Given the description of an element on the screen output the (x, y) to click on. 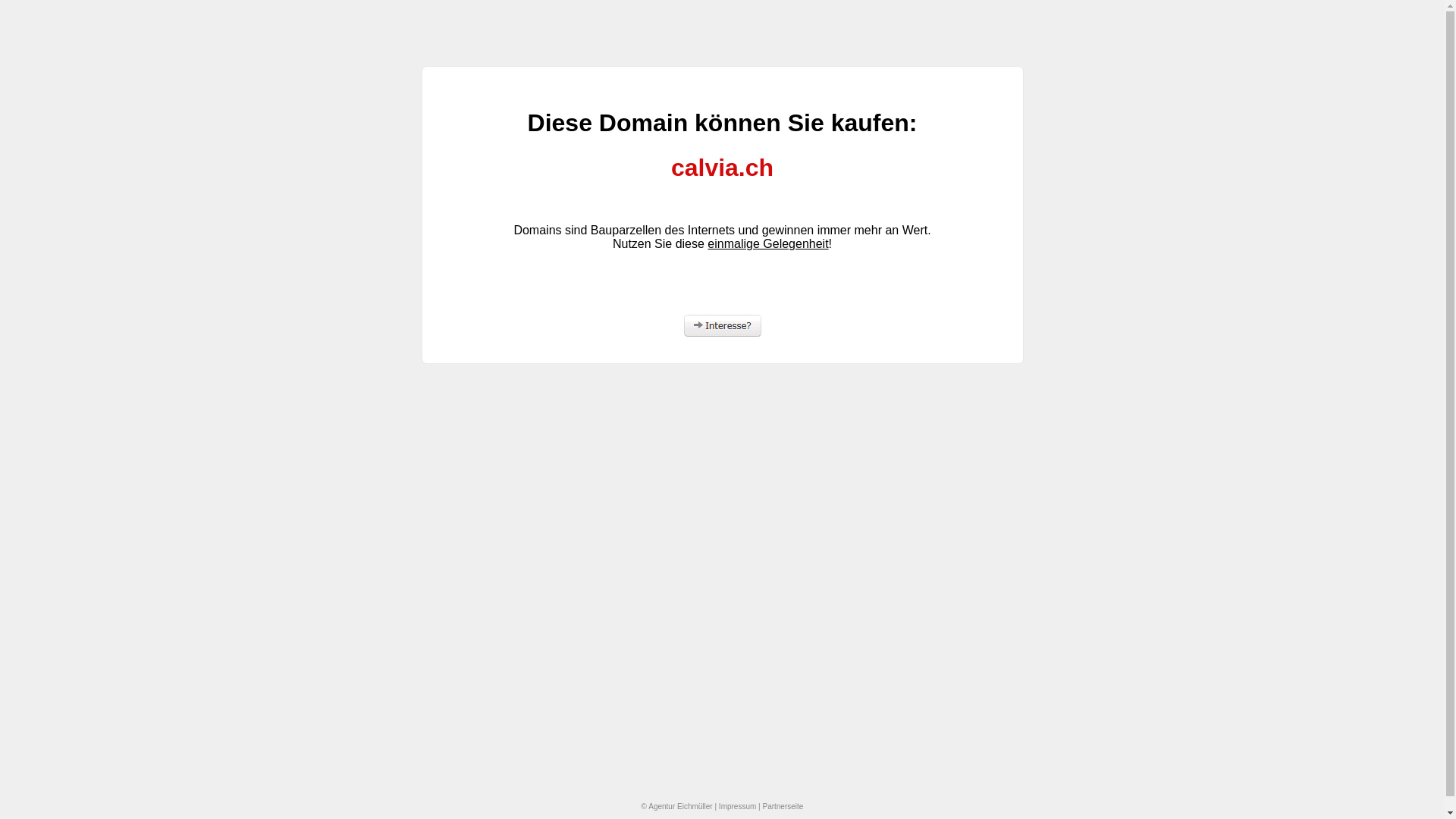
Impressum Element type: text (737, 806)
Partnerseite Element type: text (782, 806)
calvia.ch Element type: text (721, 167)
